Given the description of an element on the screen output the (x, y) to click on. 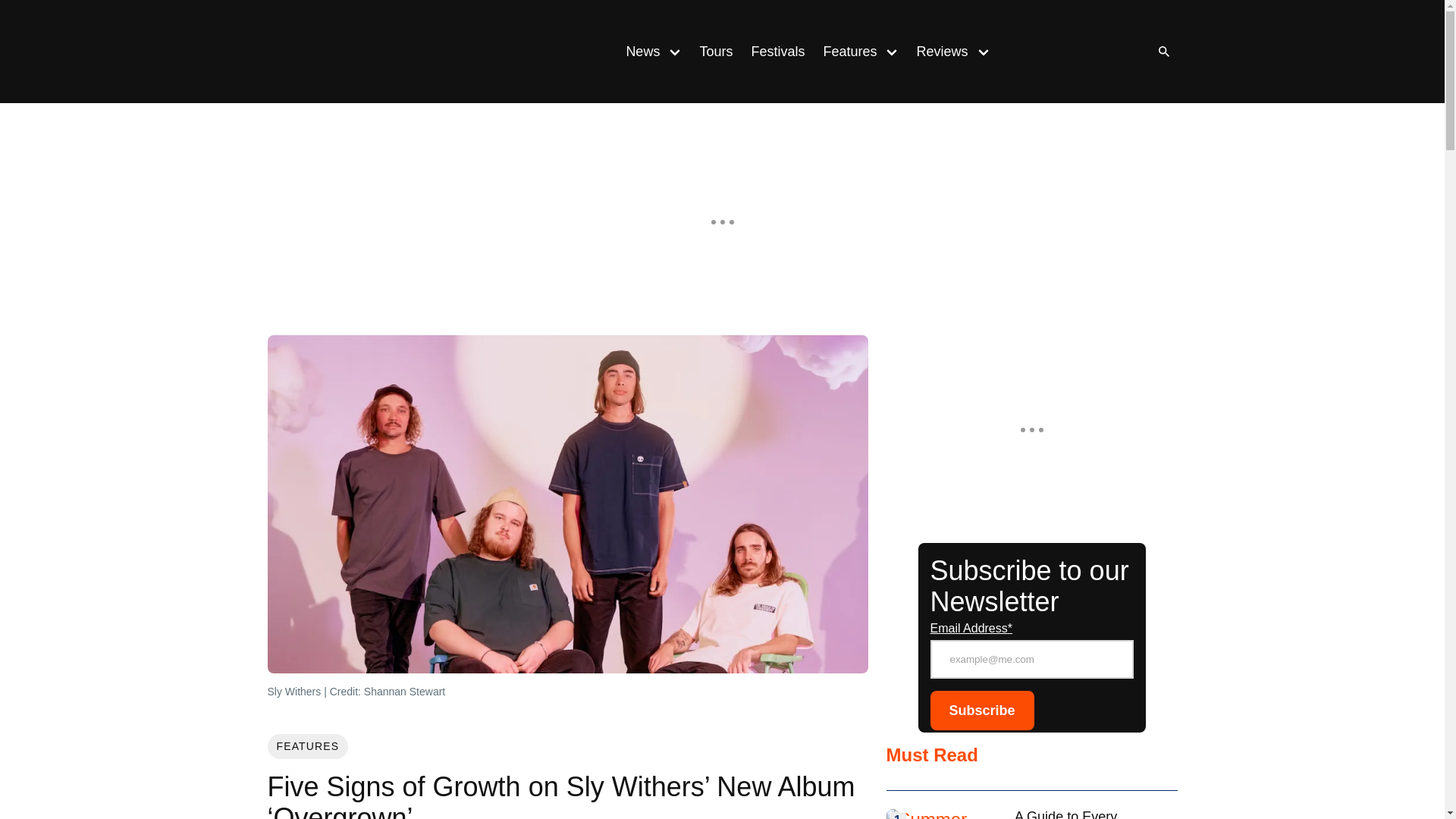
Tours (715, 51)
Twitter (1109, 51)
Facebook (1079, 51)
Open menu (891, 51)
FEATURES (306, 746)
Instagram (1048, 51)
Festivals (777, 51)
Reviews (937, 51)
Open menu (982, 51)
Open menu (674, 51)
Features (844, 51)
